Given the description of an element on the screen output the (x, y) to click on. 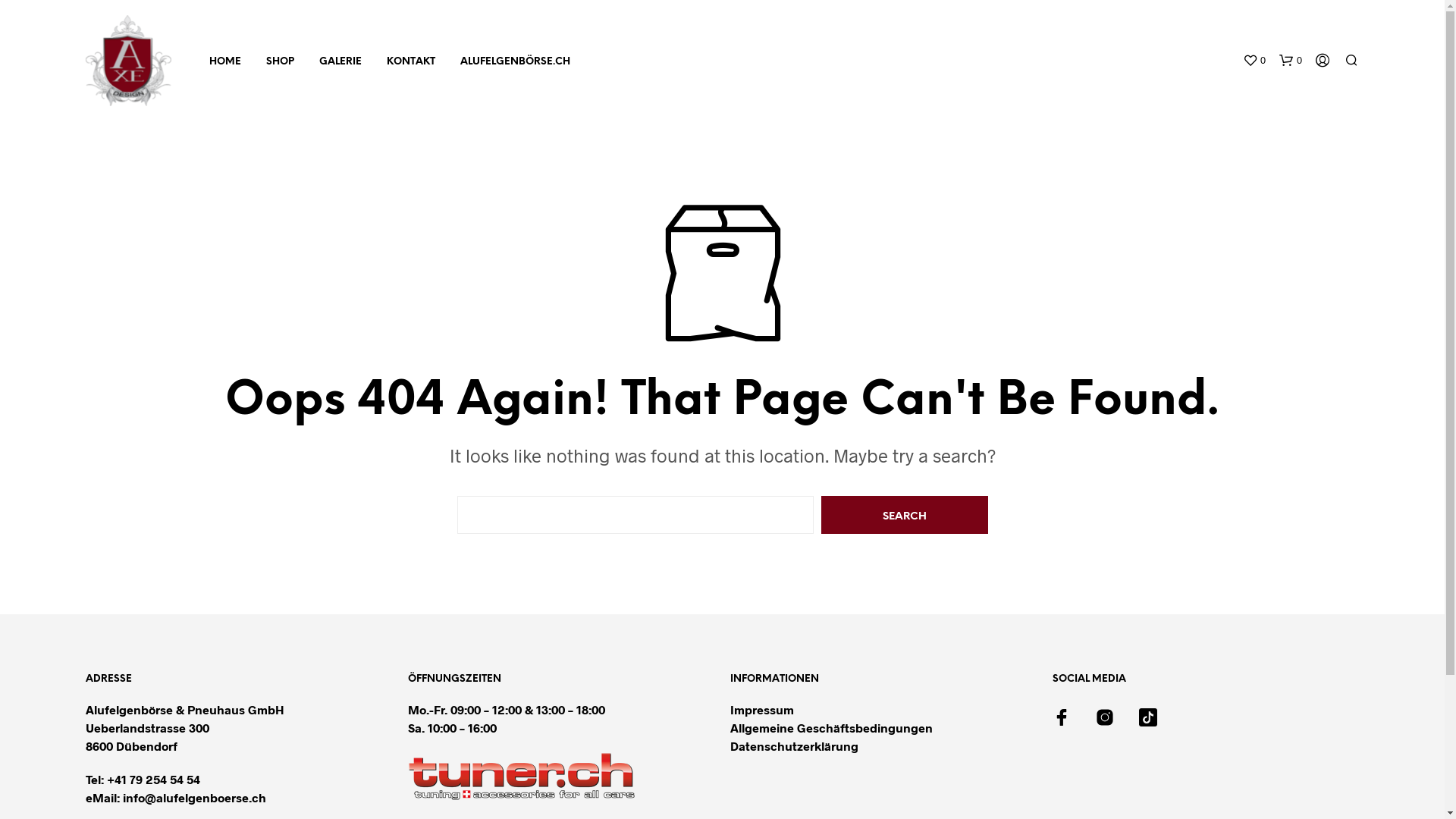
KONTAKT Element type: text (410, 61)
+41 79 254 54 54 Element type: text (152, 778)
0 Element type: text (1253, 60)
Search Element type: text (903, 514)
SHOP Element type: text (279, 61)
HOME Element type: text (224, 61)
Impressum Element type: text (761, 709)
0 Element type: text (1289, 60)
GALERIE Element type: text (340, 61)
info@alufelgenboerse.ch Element type: text (194, 797)
